Given the description of an element on the screen output the (x, y) to click on. 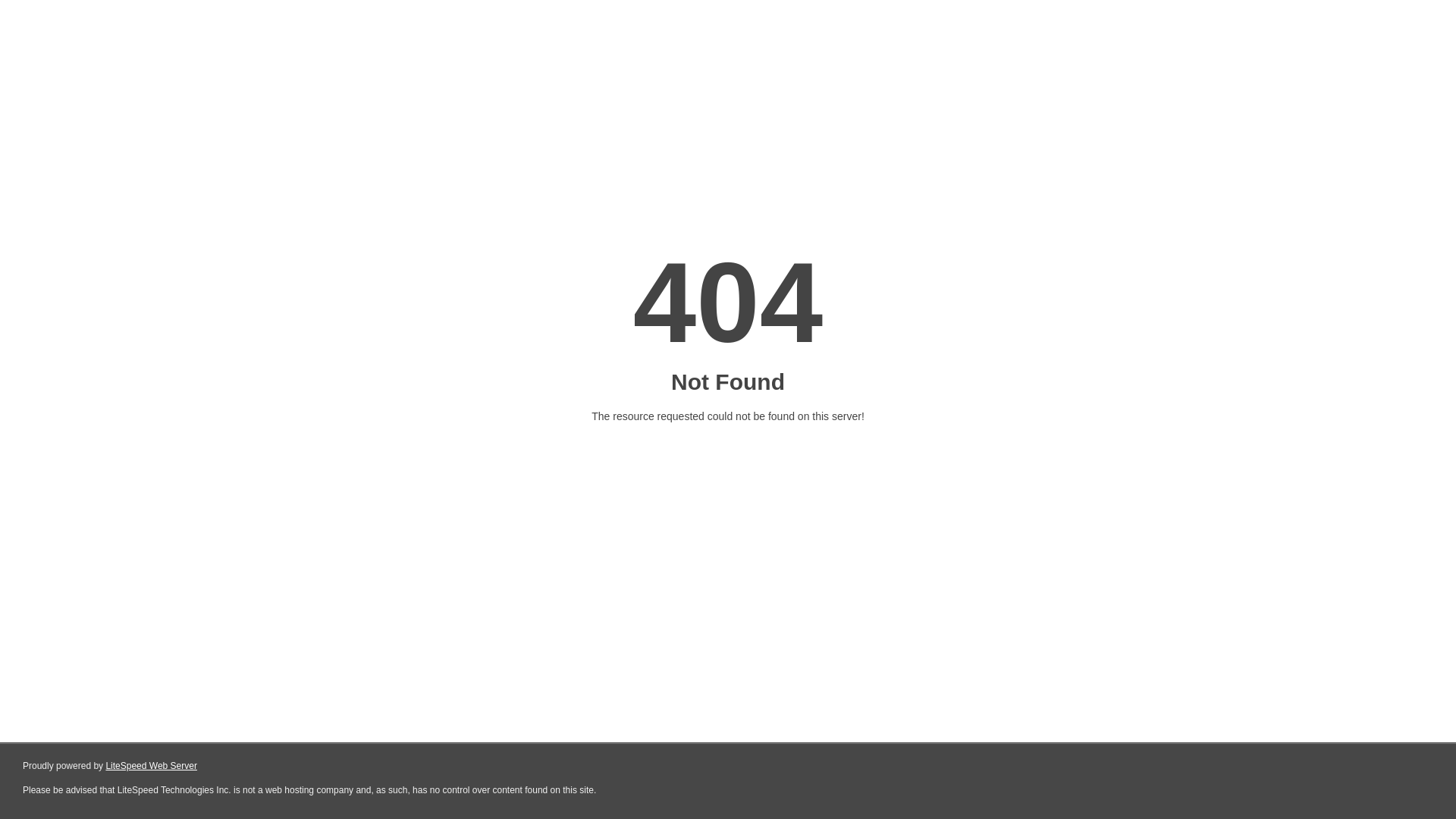
LiteSpeed Web Server Element type: text (151, 765)
